Given the description of an element on the screen output the (x, y) to click on. 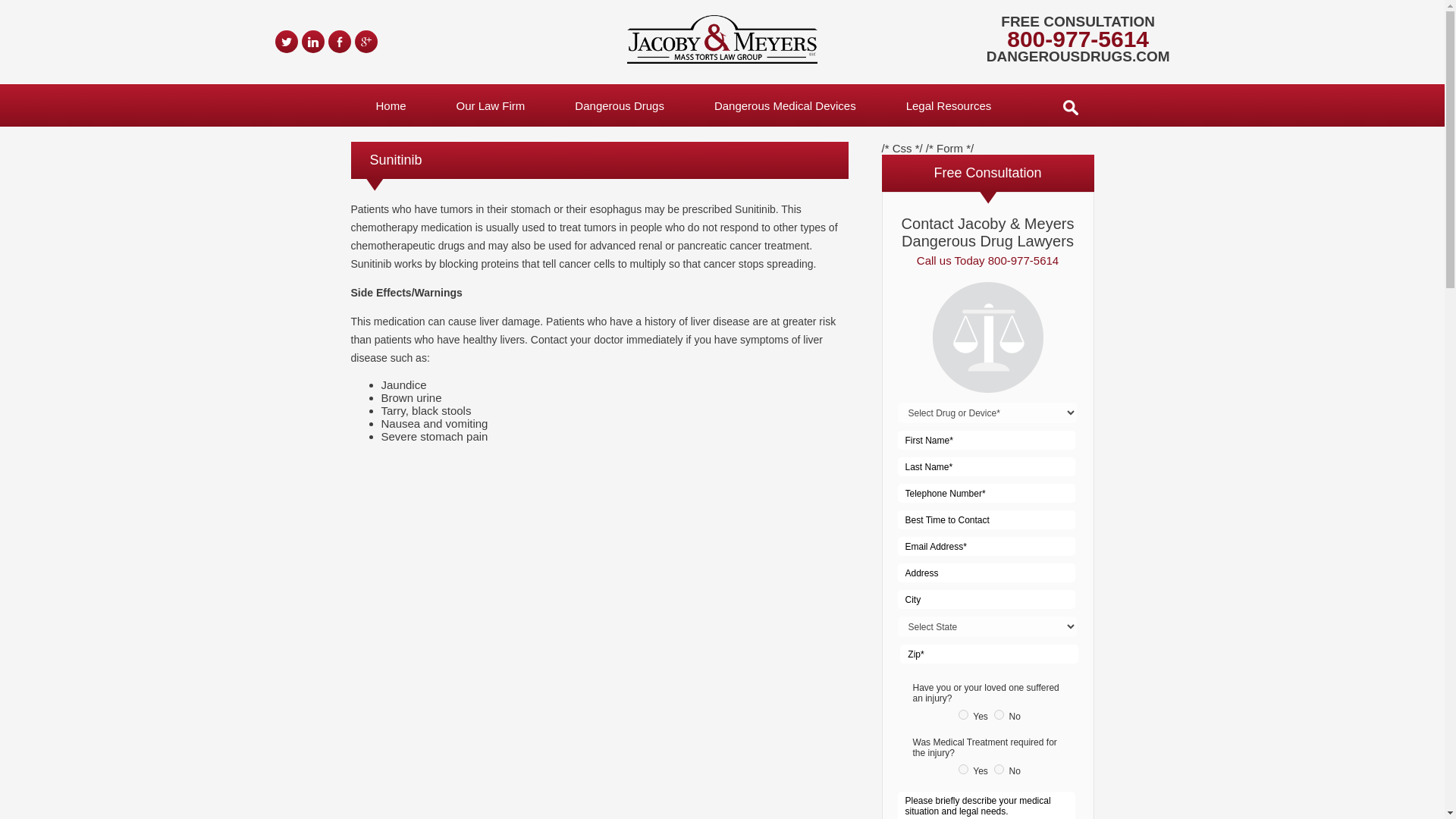
Dangerous Drugs (619, 105)
Legal Resources (948, 105)
Yes (963, 768)
Home (390, 105)
Dangerous Medical Devices (784, 105)
Yes (963, 714)
No (999, 714)
No (999, 768)
Our Law Firm (490, 105)
